Given the description of an element on the screen output the (x, y) to click on. 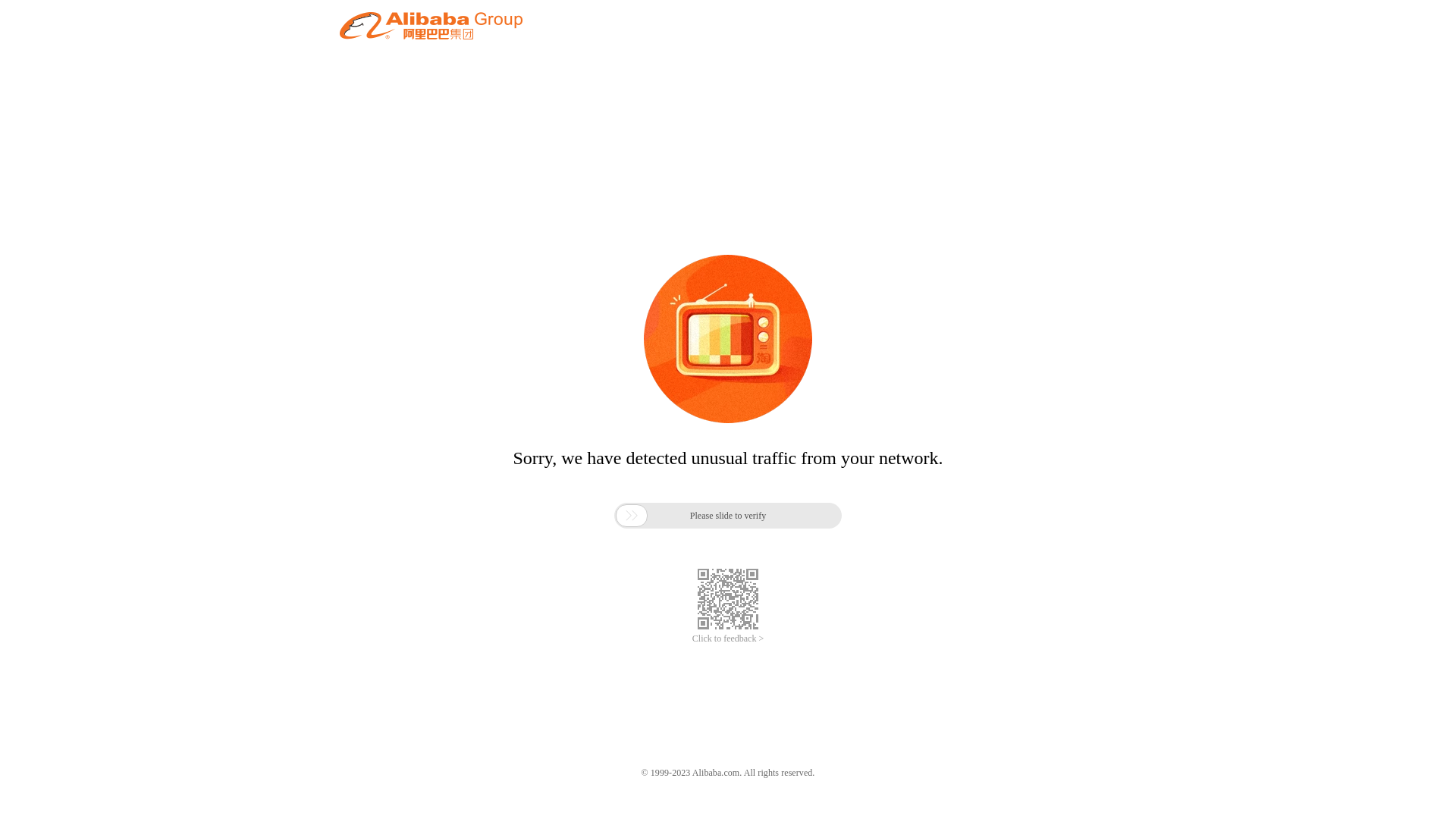
Click to feedback > Element type: text (727, 638)
